Given the description of an element on the screen output the (x, y) to click on. 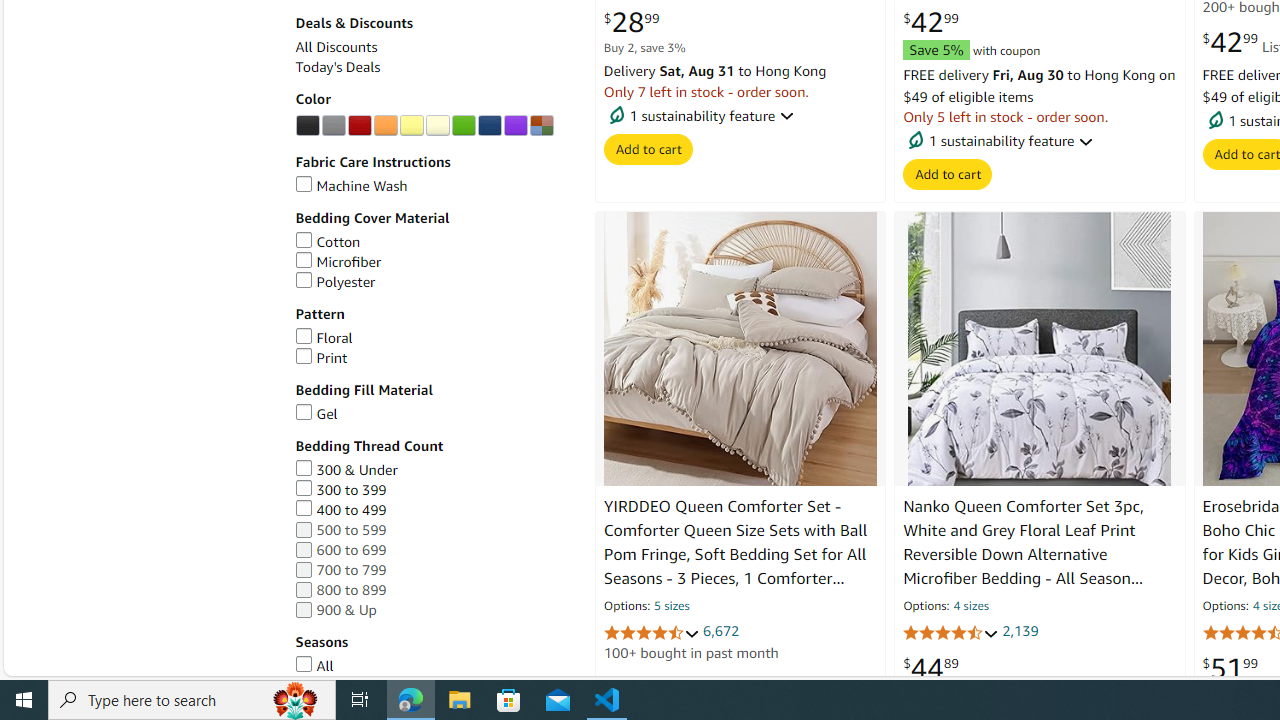
Black (307, 125)
Green (463, 125)
Floral (434, 338)
$28.99 (631, 23)
Floral (323, 337)
Print (434, 358)
Cotton (434, 242)
AutomationID: p_n_feature_twenty_browse-bin/3254109011 (489, 125)
AutomationID: p_n_feature_twenty_browse-bin/3254103011 (359, 125)
Yellow (411, 125)
$42.99 (930, 23)
AutomationID: p_n_feature_twenty_browse-bin/3254113011 (541, 125)
 1 sustainability feature (1039, 141)
